Given the description of an element on the screen output the (x, y) to click on. 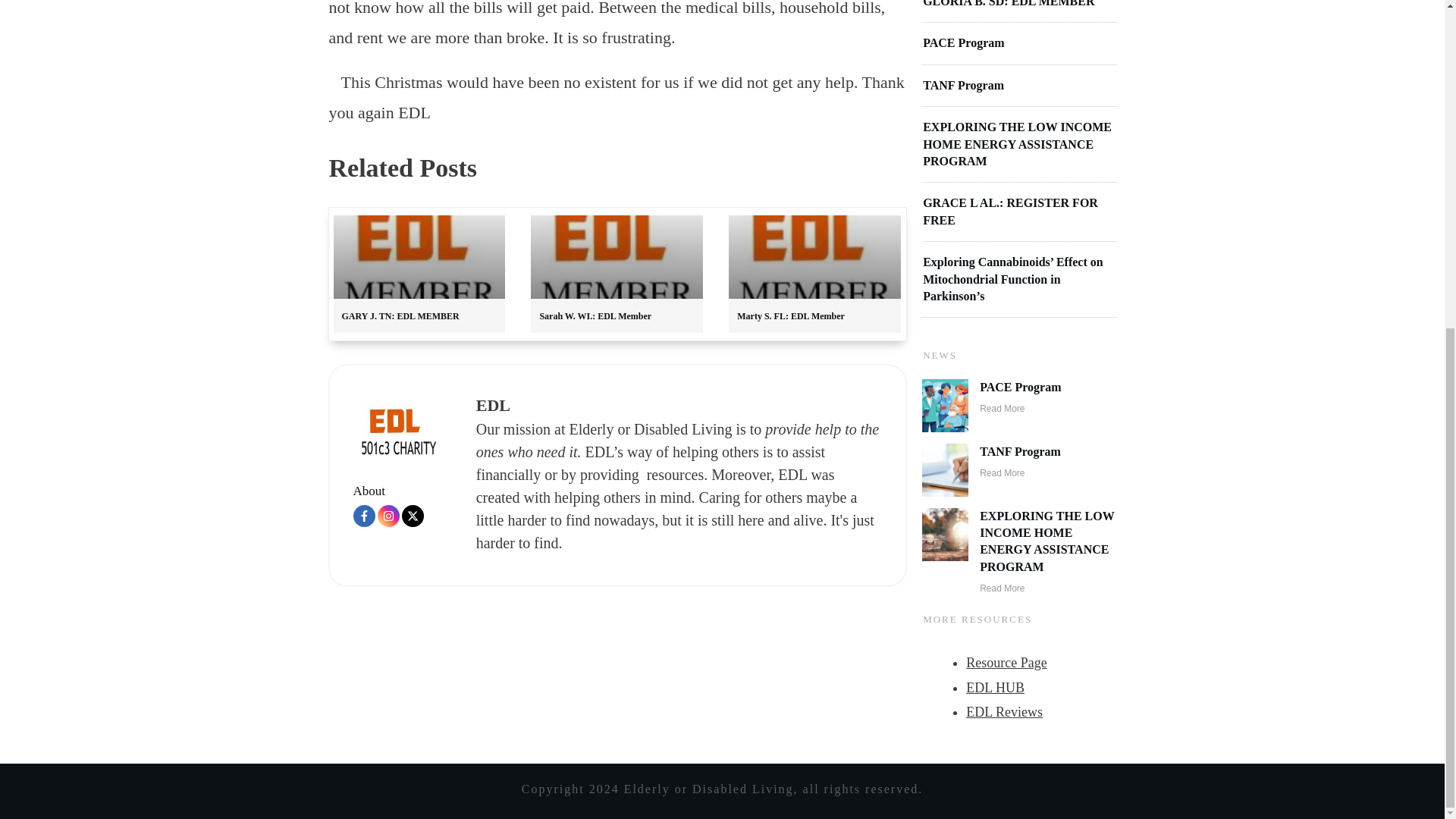
GRACE L AL.: REGISTER FOR FREE (1010, 211)
TANF Program (963, 84)
Read More (1002, 588)
Read More (1002, 472)
PACE Program (963, 42)
Sarah W. WI.: EDL Member (594, 316)
Elderly or Disabled Living (397, 431)
Read More (1002, 408)
Marty S. FL: EDL Member (790, 316)
EXPLORING THE LOW INCOME HOME ENERGY ASSISTANCE PROGRAM (1017, 143)
GRACE L AL.: REGISTER FOR FREE (1010, 211)
TANF Program (1020, 451)
EXPLORING THE LOW INCOME HOME ENERGY ASSISTANCE PROGRAM (1047, 541)
PACE Program (1020, 386)
GARY J. TN: EDL MEMBER (399, 316)
